Given the description of an element on the screen output the (x, y) to click on. 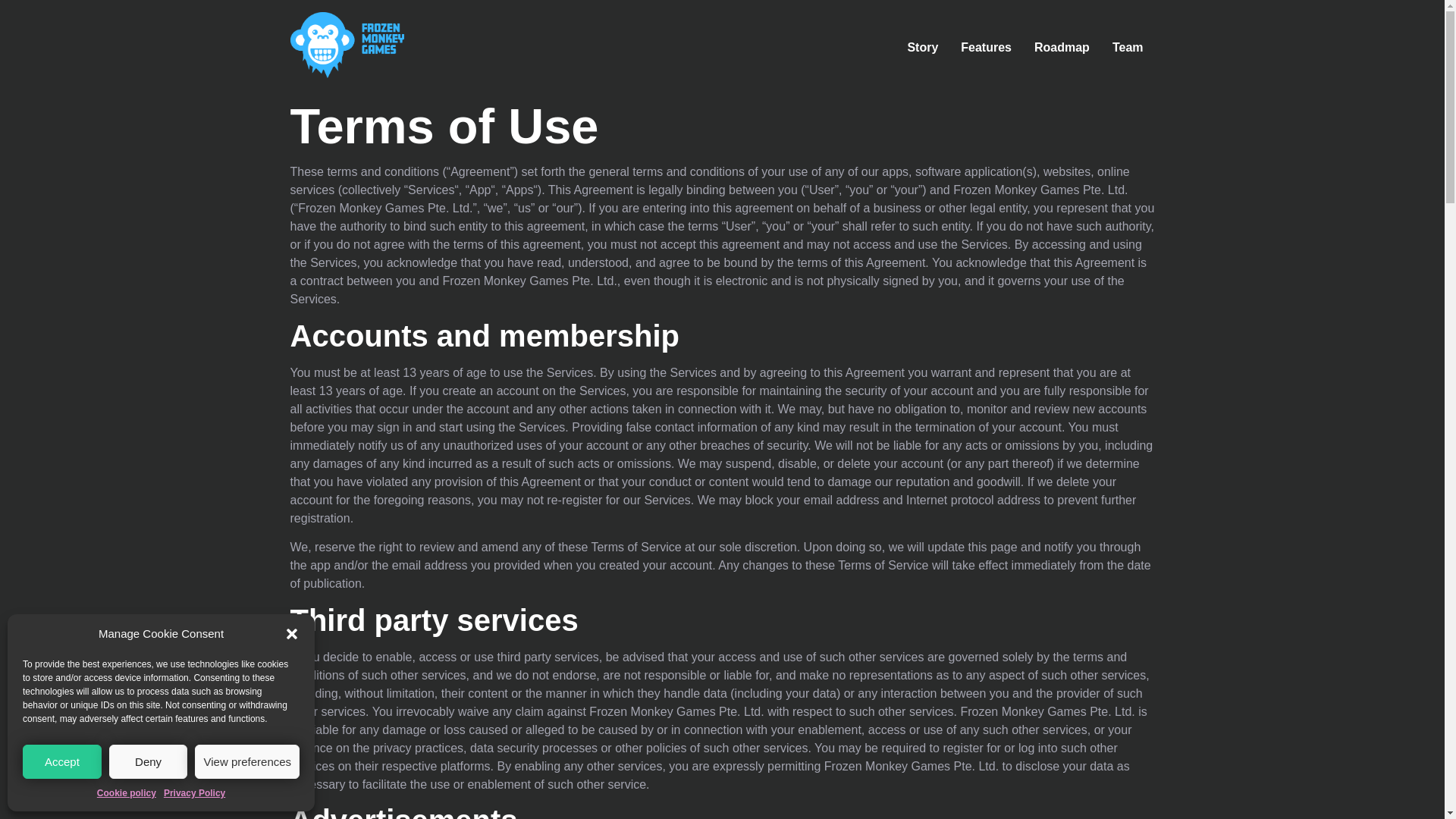
View preferences (247, 761)
Cookie policy (126, 793)
Features (986, 47)
Story (922, 47)
Accept (62, 761)
Privacy Policy (194, 793)
Team (1127, 47)
Deny (148, 761)
Roadmap (1061, 47)
